Given the description of an element on the screen output the (x, y) to click on. 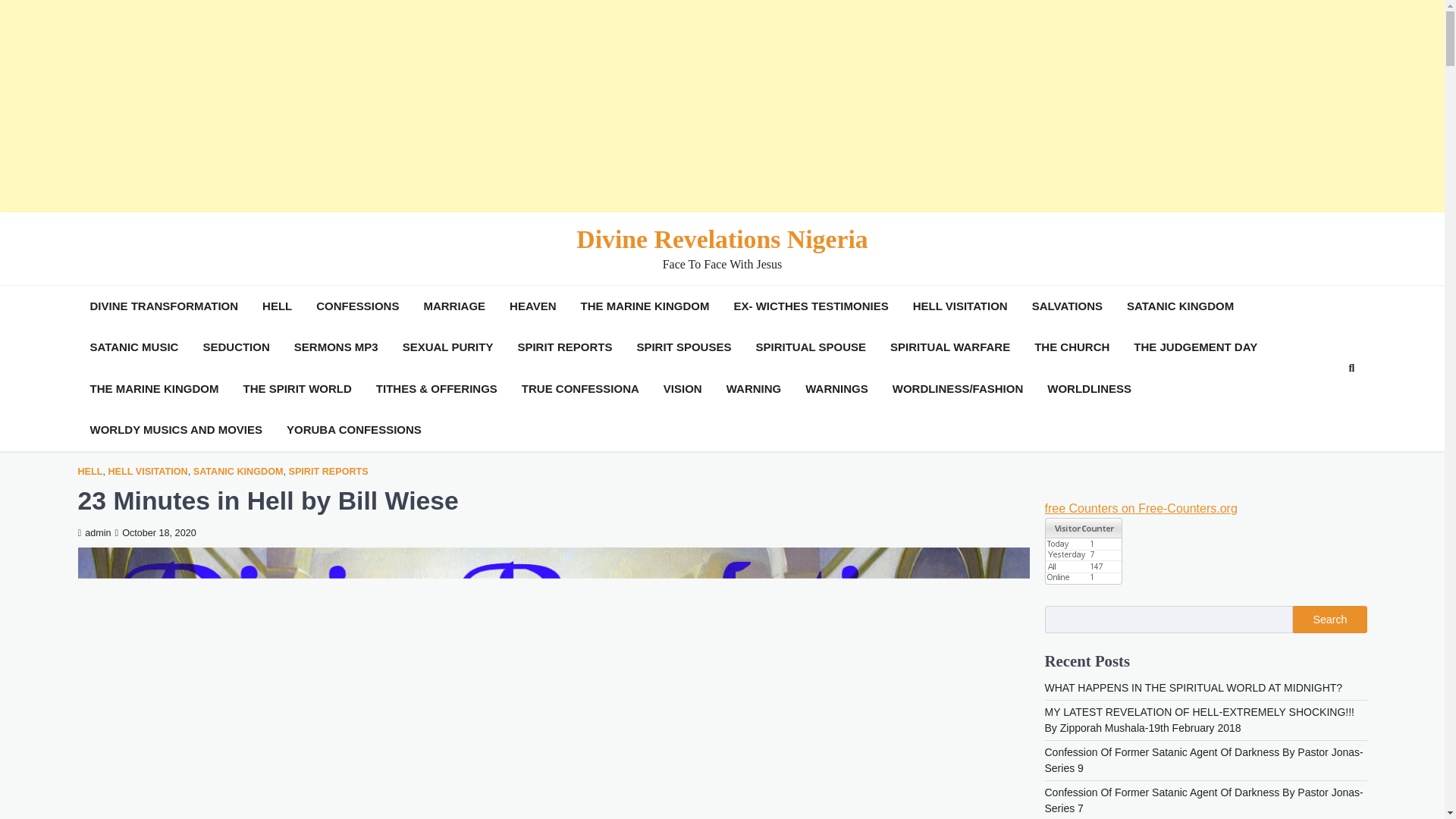
CONFESSIONS (357, 306)
SATANIC KINGDOM (238, 471)
WARNINGS (837, 389)
VISION (682, 389)
SERMONS MP3 (336, 347)
HELL (89, 471)
Divine Revelations Nigeria (721, 239)
HEAVEN (532, 306)
Search (1323, 403)
